Given the description of an element on the screen output the (x, y) to click on. 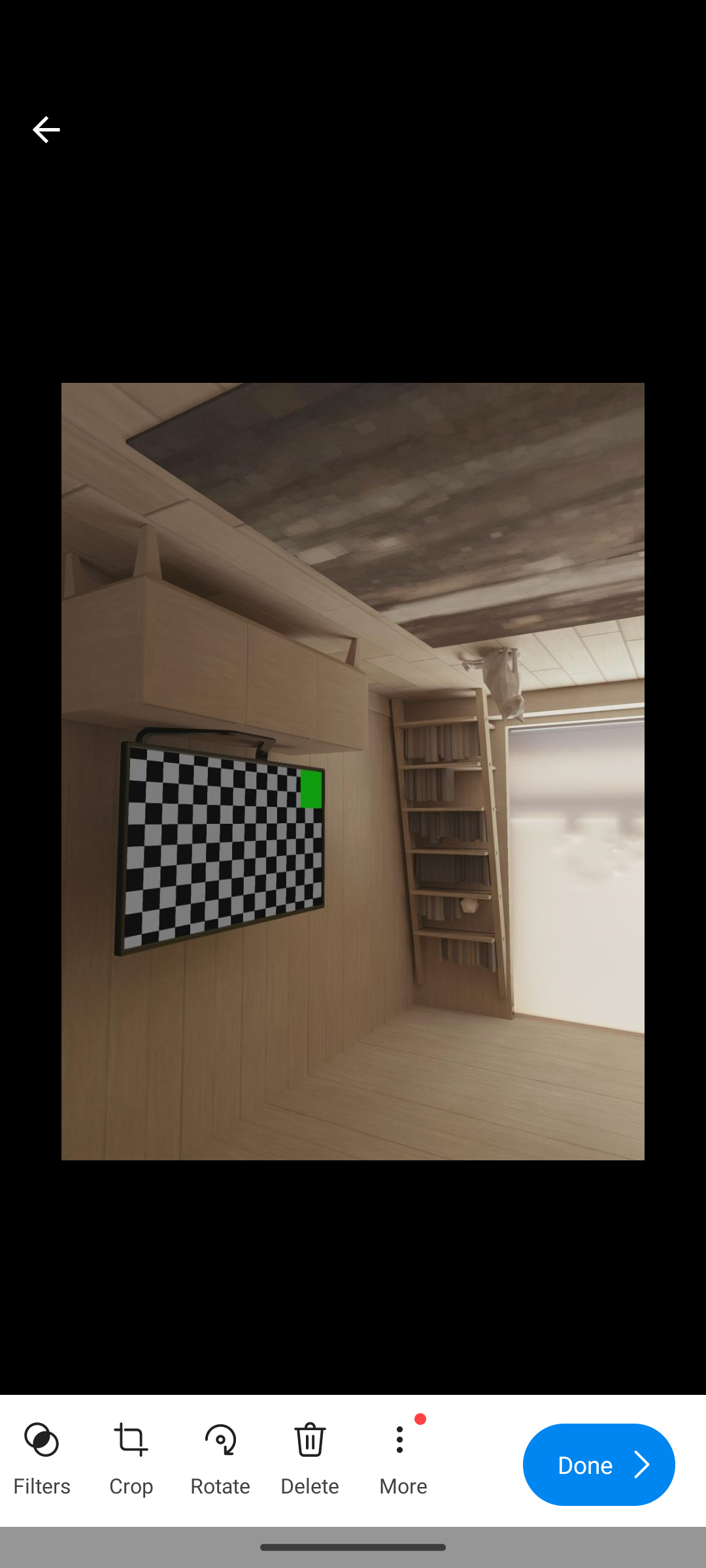
Back (46, 129)
Filters (41, 1453)
Crop (130, 1453)
Rotate (220, 1453)
Delete (309, 1453)
More (401, 1453)
Done (598, 1464)
